Given the description of an element on the screen output the (x, y) to click on. 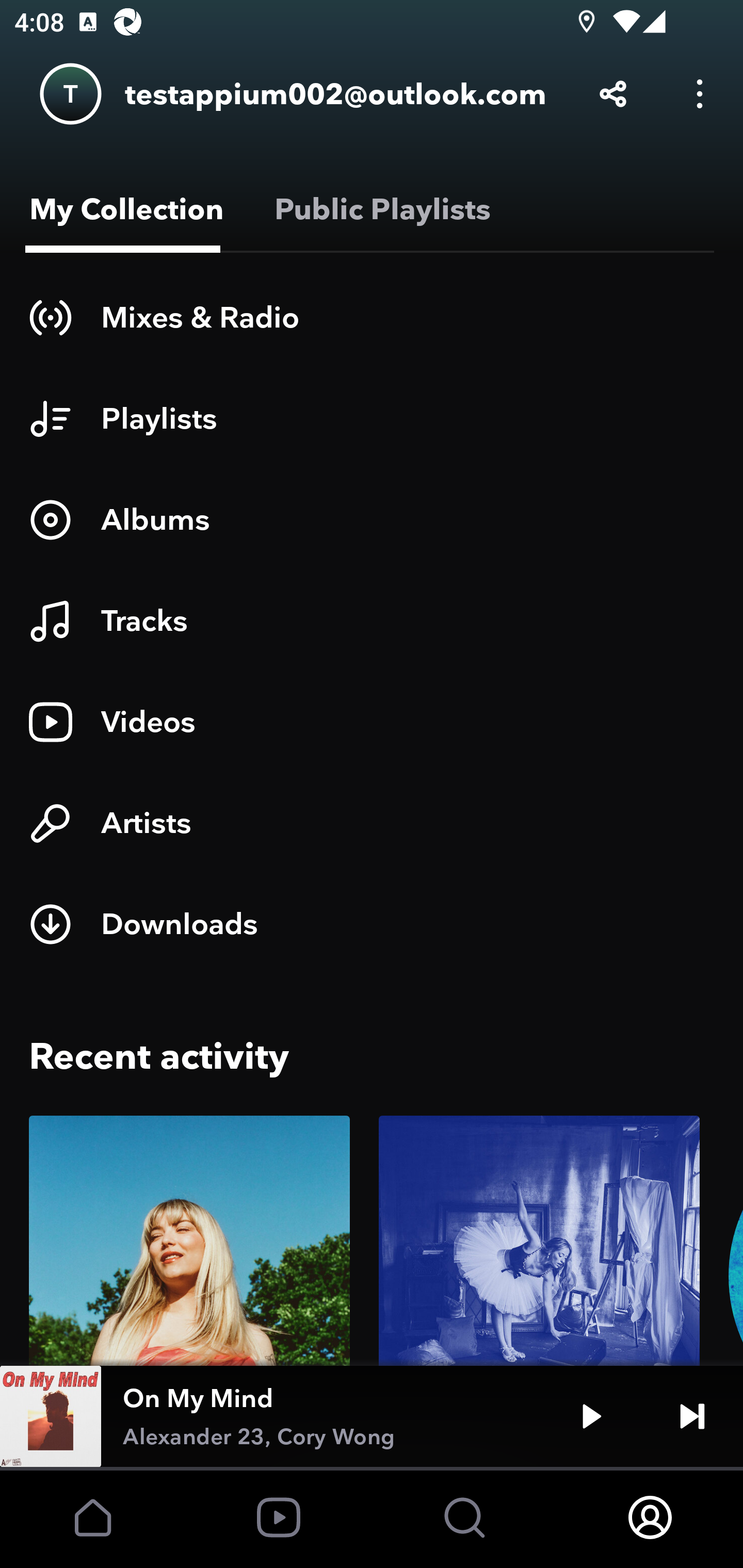
Share (612, 93)
Options (699, 93)
Public Playlists (378, 209)
Mixes & Radio (371, 317)
Playlists (371, 418)
Albums (371, 519)
Tracks (371, 620)
Videos (371, 722)
Artists (371, 823)
Downloads (371, 924)
On My Mind Alexander 23, Cory Wong Play (371, 1416)
Play (590, 1416)
